Given the description of an element on the screen output the (x, y) to click on. 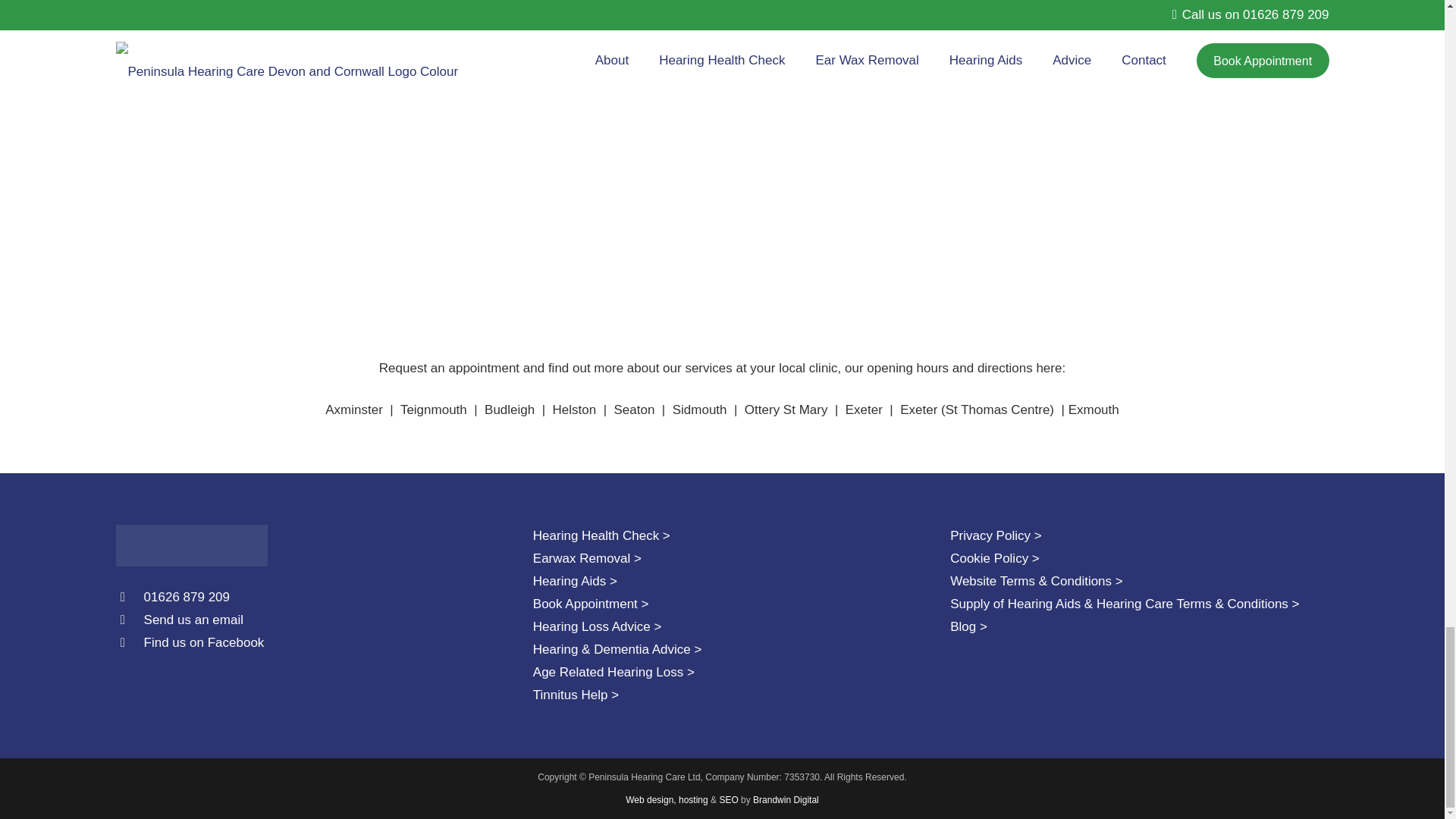
Ottery St Mary (786, 409)
Sidmouth (699, 409)
Exeter (863, 409)
Seaton (634, 409)
Teignmouth (433, 409)
Helston (574, 409)
Budleigh (509, 409)
Axminster (353, 409)
Exmouth (1093, 409)
